Given the description of an element on the screen output the (x, y) to click on. 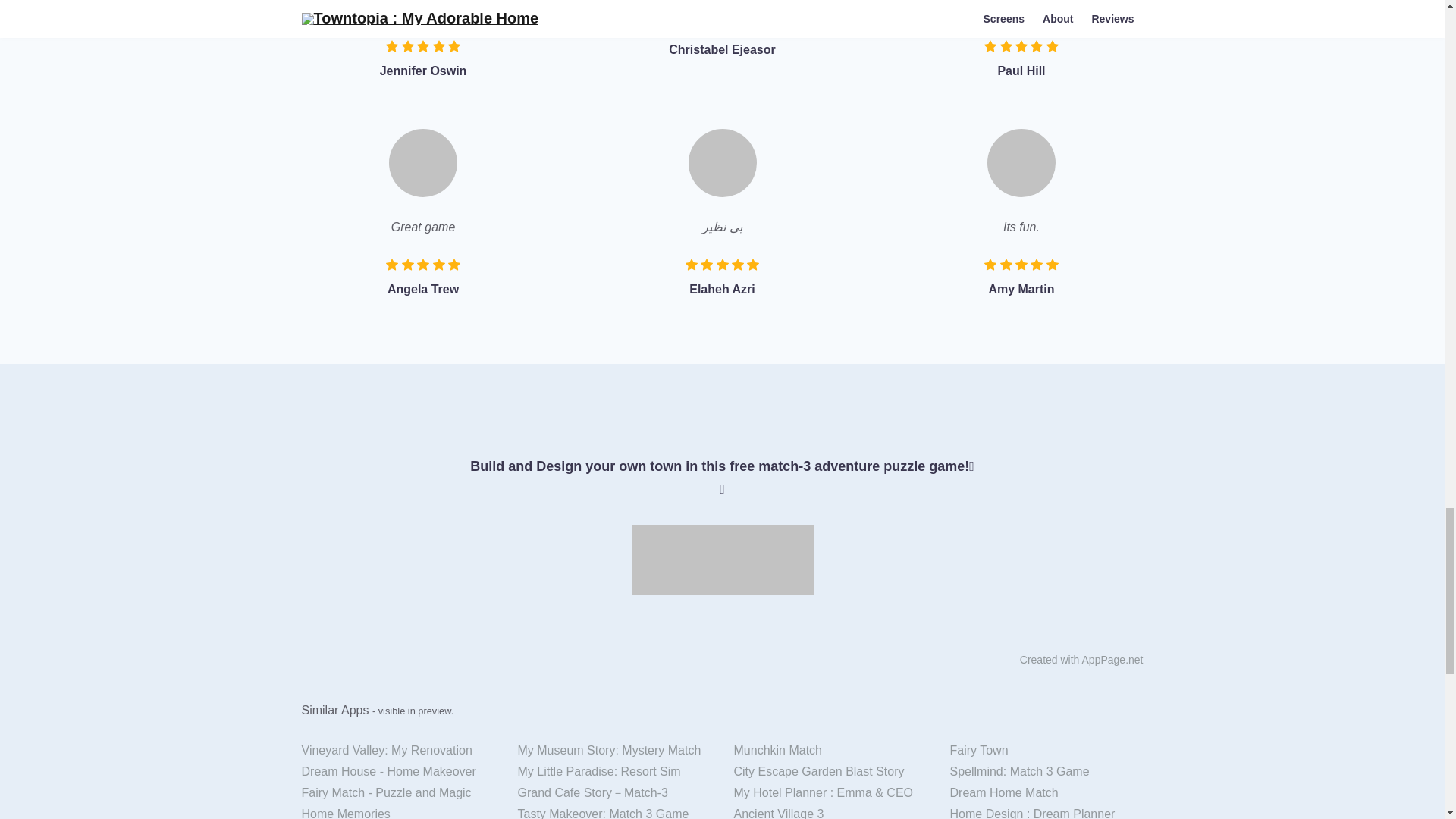
Home Design : Dream Planner (1046, 811)
Dream House - Home Makeover (397, 771)
City Escape Garden Blast Story (829, 771)
Tasty Makeover: Match 3 Game (614, 811)
Fairy Match - Puzzle and Magic (397, 792)
Ancient Village 3 (829, 811)
Vineyard Valley: My Renovation (397, 750)
My Museum Story: Mystery Match (614, 750)
Spellmind: Match 3 Game (1046, 771)
Fairy Town (1046, 750)
